Given the description of an element on the screen output the (x, y) to click on. 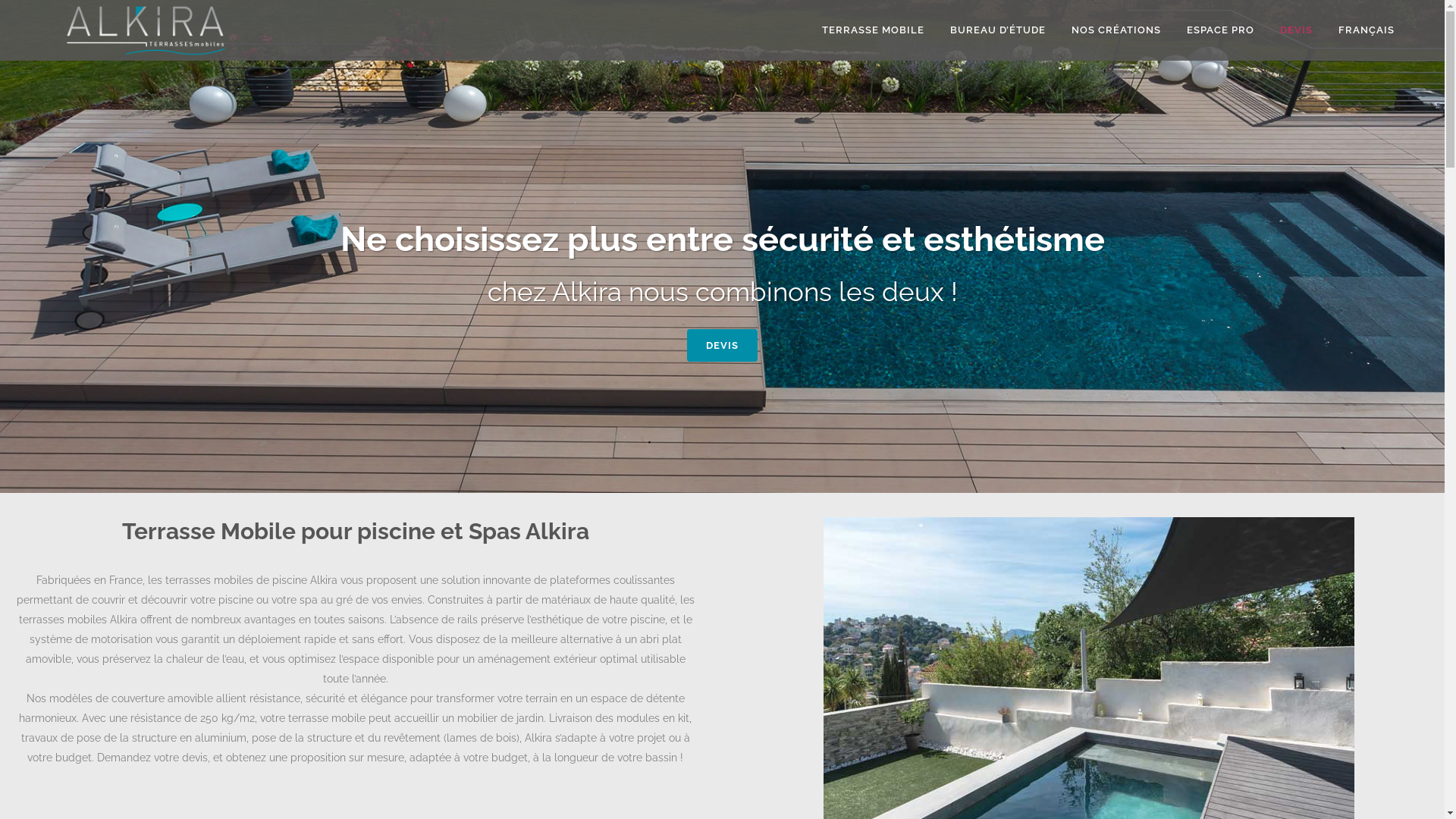
DEVIS Element type: text (722, 345)
DEVIS Element type: text (1296, 30)
TERRASSE MOBILE Element type: text (873, 30)
ESPACE PRO Element type: text (1220, 30)
